Given the description of an element on the screen output the (x, y) to click on. 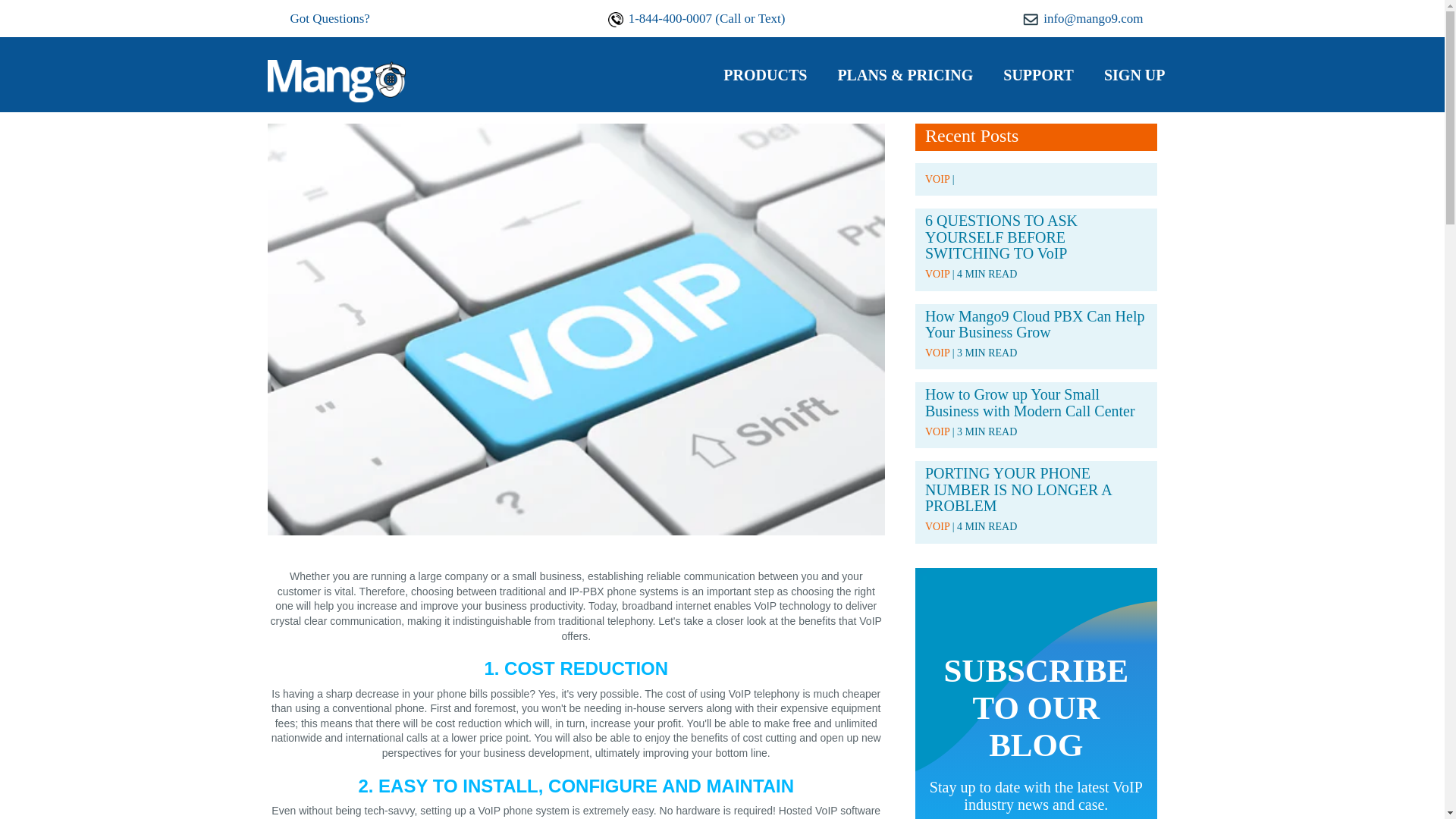
How to Grow up Your Small Business with Modern Call Center (1029, 402)
PRODUCTS (764, 76)
6 QUESTIONS TO ASK YOURSELF BEFORE SWITCHING TO VoIP (1000, 236)
PORTING YOUR PHONE NUMBER IS NO LONGER A PROBLEM (1018, 489)
SUPPORT (1038, 76)
Mango9 (335, 79)
How Mango9 Cloud PBX Can Help Your Business Grow (1034, 324)
SIGN UP (1134, 76)
much cheaper (846, 693)
